Given the description of an element on the screen output the (x, y) to click on. 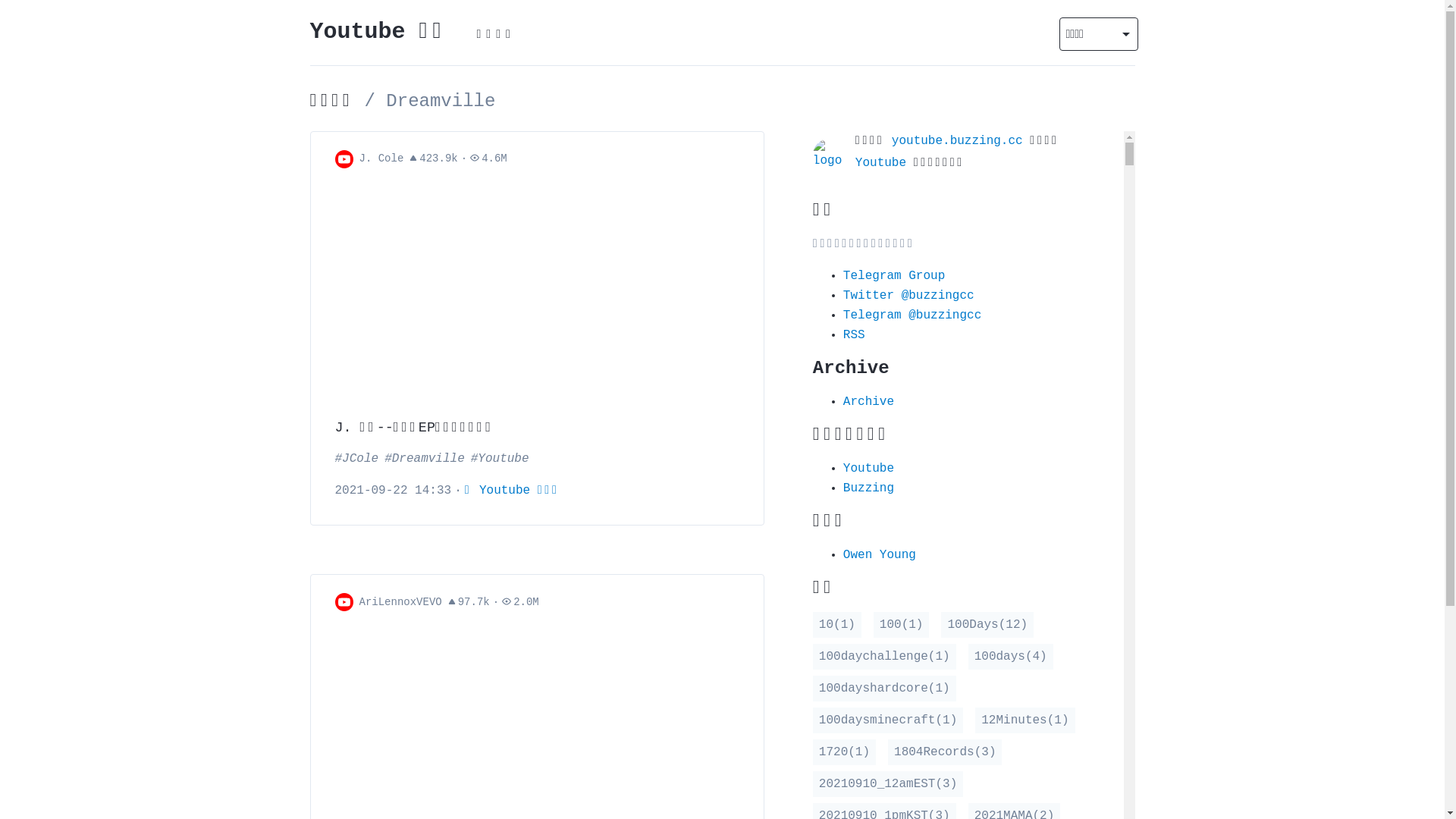
Buzzing Element type: text (868, 487)
100Days(12) Element type: text (987, 624)
12Minutes(1) Element type: text (1024, 719)
100dayshardcore(1) Element type: text (884, 687)
Twitter @buzzingcc Element type: text (908, 294)
100daychallenge(1) Element type: text (884, 655)
100(1) Element type: text (901, 624)
RSS Element type: text (854, 334)
Archive Element type: text (868, 400)
JCole Element type: text (357, 458)
10(1) Element type: text (836, 624)
2021-09-22 14:33 Element type: text (393, 490)
Youtube Element type: text (880, 162)
youtube.buzzing.cc Element type: text (956, 140)
Telegram Group Element type: text (893, 275)
J. Cole Element type: text (381, 158)
100daysminecraft(1) Element type: text (887, 719)
Youtube Element type: text (868, 467)
Dreamville Element type: text (424, 458)
Owen Young Element type: text (879, 554)
Telegram @buzzingcc Element type: text (912, 314)
20210910_12amEST(3) Element type: text (887, 783)
AriLennoxVEVO Element type: text (400, 602)
1804Records(3) Element type: text (944, 751)
1720(1) Element type: text (843, 751)
J. Cole - Heaven's EP (Official Music Video) Element type: hover (537, 293)
100days(4) Element type: text (1010, 655)
Youtube Element type: text (499, 458)
